Given the description of an element on the screen output the (x, y) to click on. 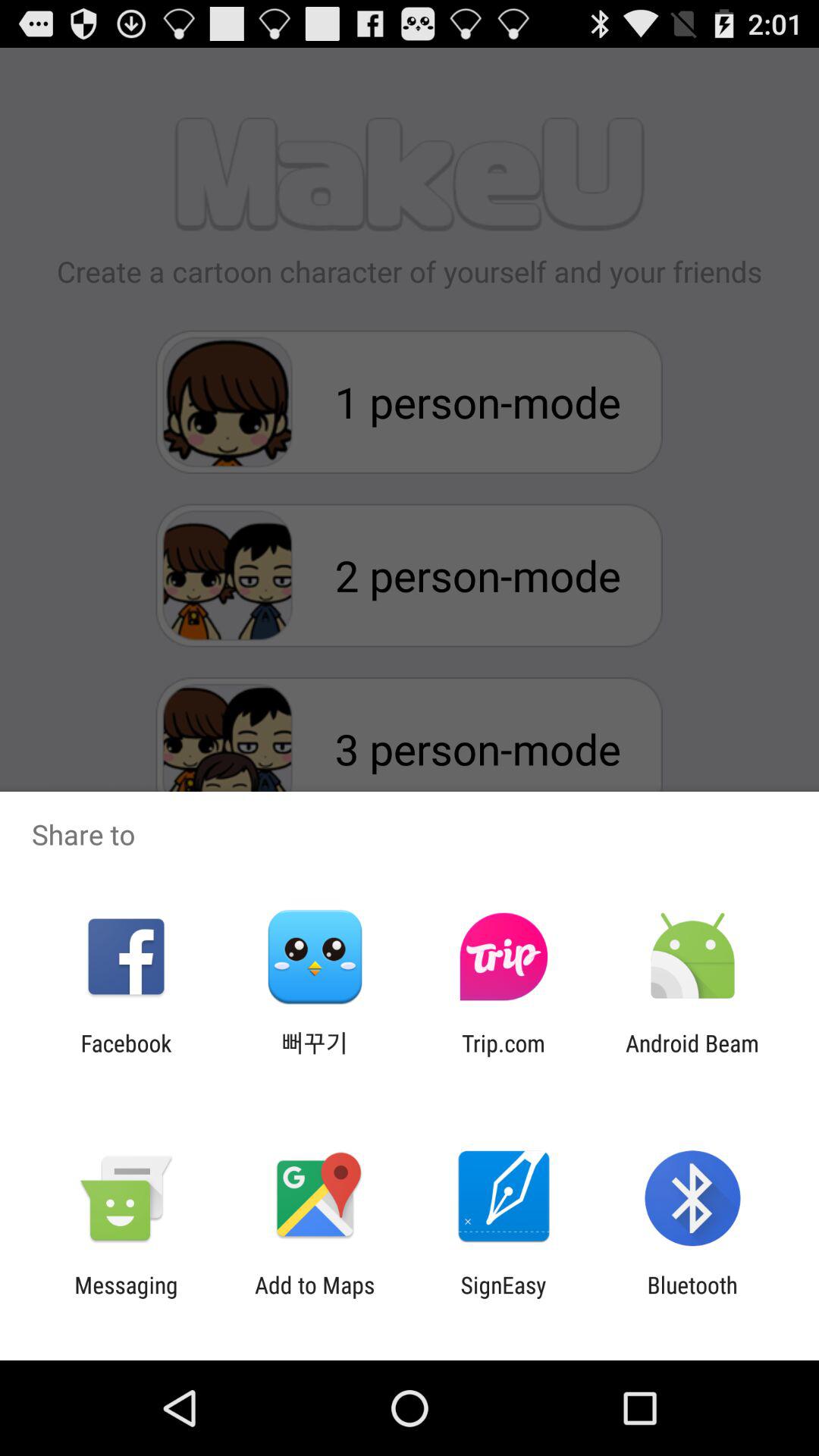
tap the item next to signeasy app (314, 1298)
